Given the description of an element on the screen output the (x, y) to click on. 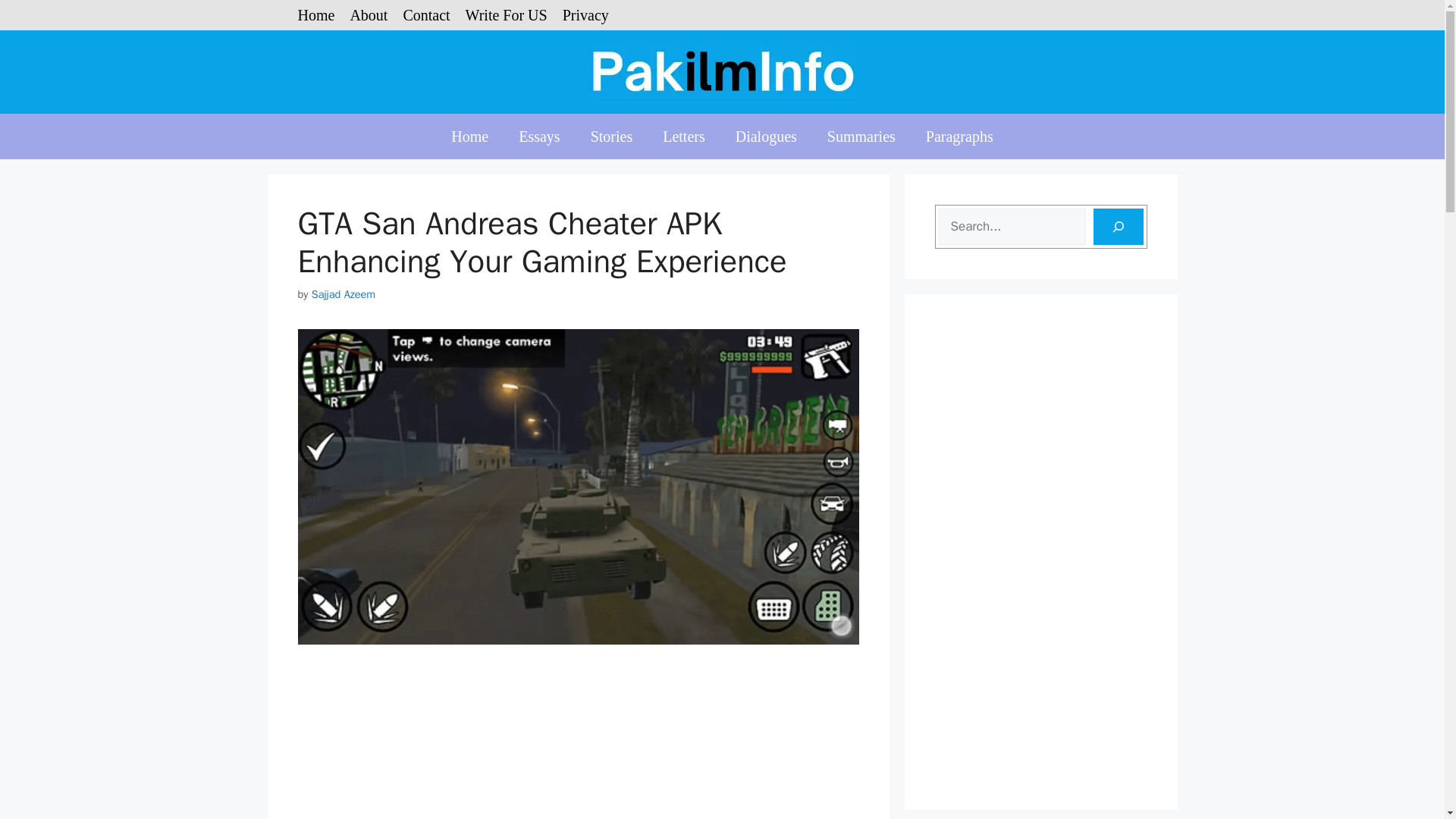
About (368, 14)
Privacy (585, 14)
Paragraphs (960, 135)
Advertisement (578, 744)
Dialogues (766, 135)
View all posts by Sajjad Azeem (343, 294)
Write For US (506, 14)
Home (469, 135)
Letters (683, 135)
Contact (426, 14)
Home (315, 14)
Summaries (861, 135)
Sajjad Azeem (343, 294)
Essays (539, 135)
Stories (611, 135)
